Given the description of an element on the screen output the (x, y) to click on. 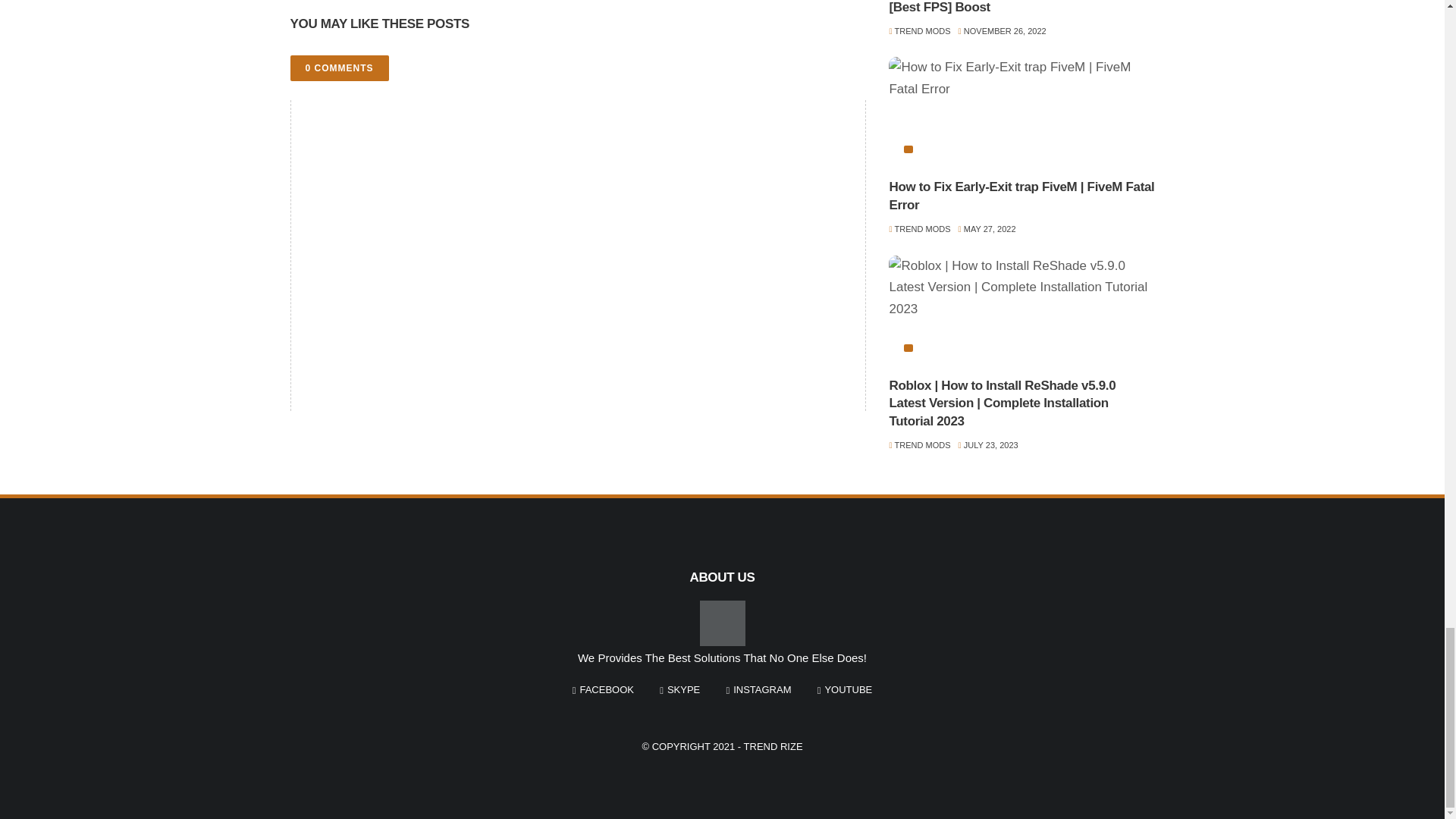
youtube (844, 689)
facebook (602, 689)
skype (679, 689)
instagram (757, 689)
TREND RIZE (773, 746)
